Given the description of an element on the screen output the (x, y) to click on. 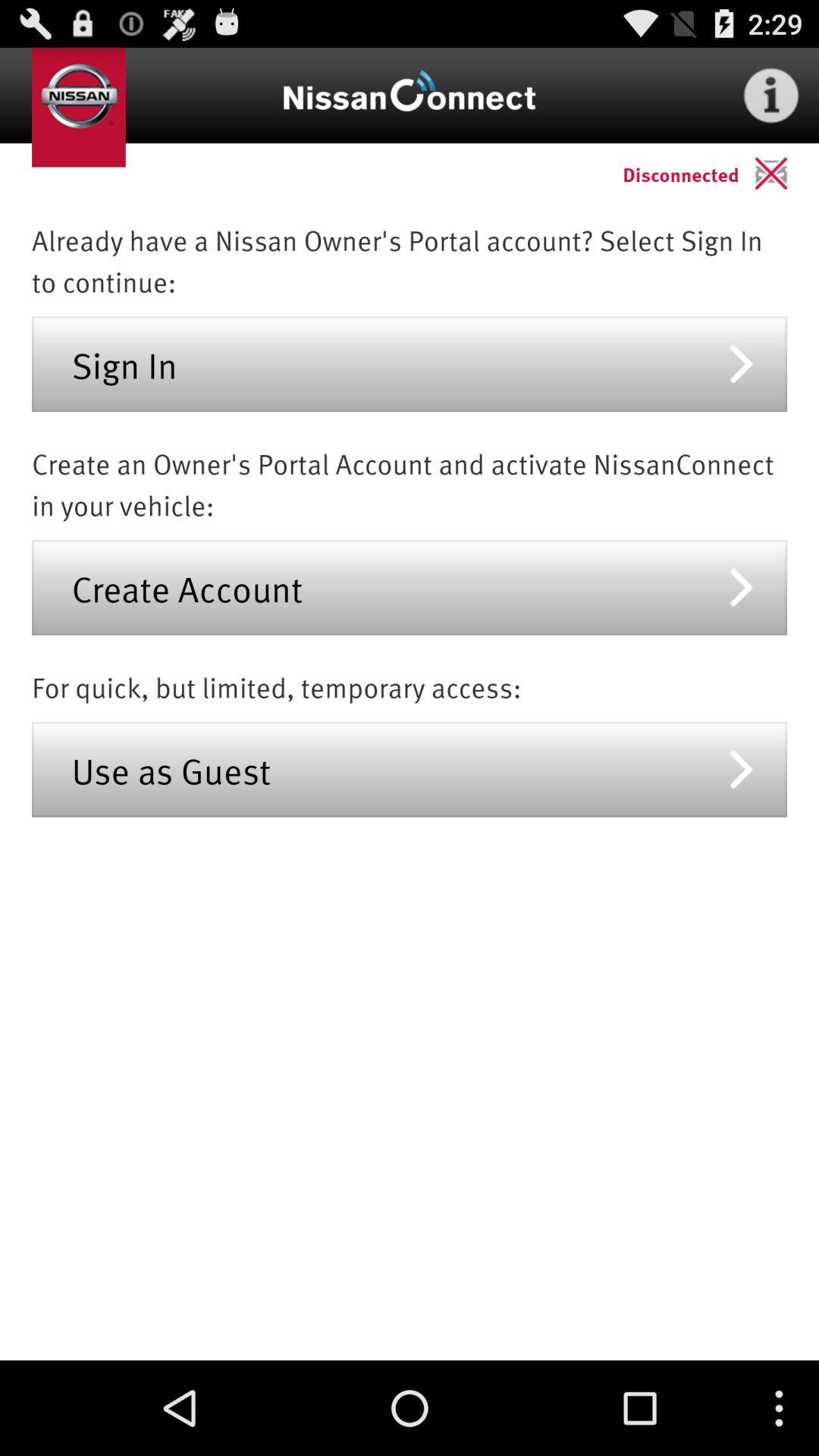
disconnected close (787, 173)
